Given the description of an element on the screen output the (x, y) to click on. 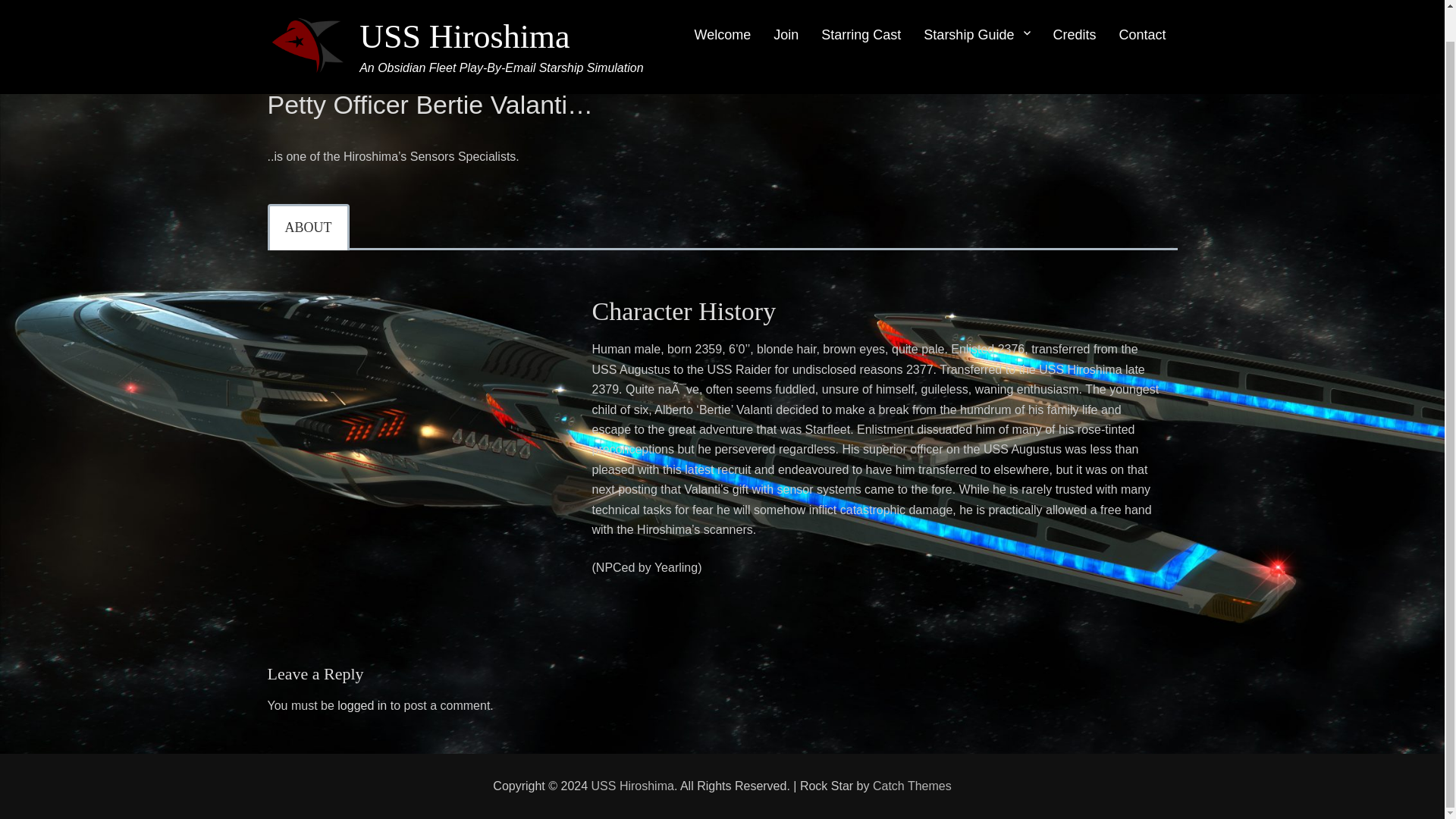
ABOUT (307, 226)
Catch Themes (912, 785)
Starship Guide (976, 15)
Credits (1073, 15)
logged in (362, 705)
USS Hiroshima (464, 11)
Starring Cast (860, 15)
Welcome (722, 15)
USS Hiroshima (632, 785)
Join (785, 15)
